Given the description of an element on the screen output the (x, y) to click on. 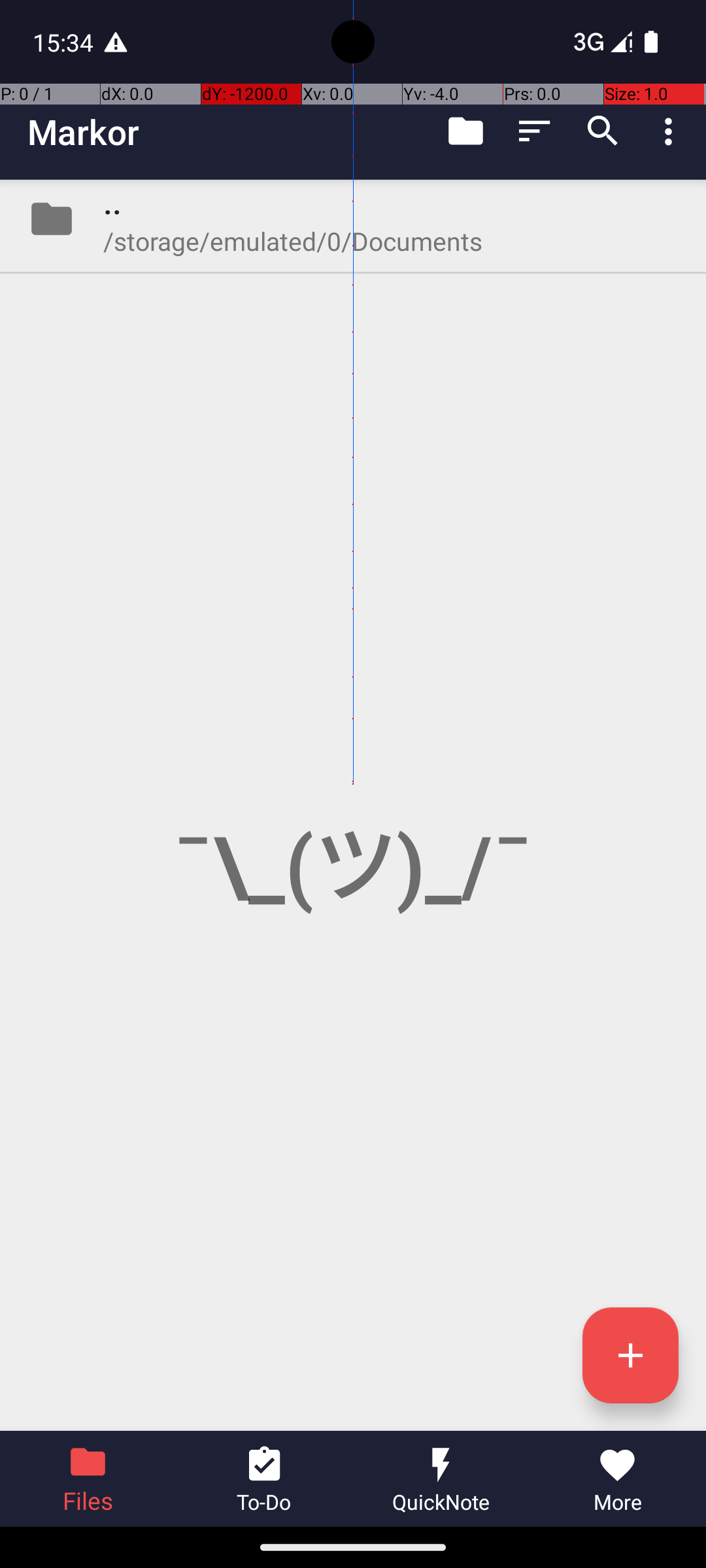
¯\_(ツ)_/¯ Element type: android.widget.TextView (353, 804)
